Given the description of an element on the screen output the (x, y) to click on. 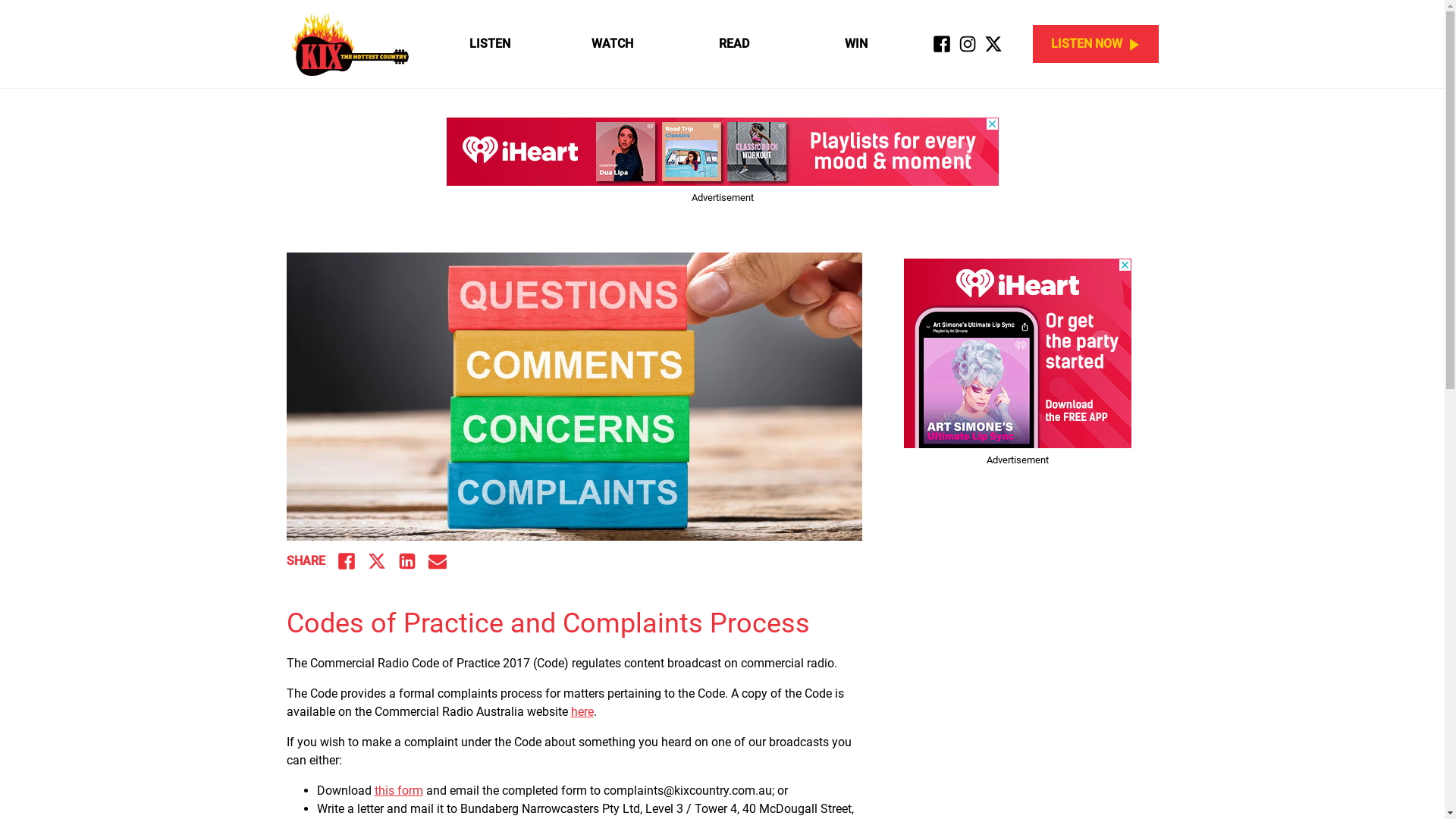
Facebook Element type: text (941, 43)
Twitter Element type: text (376, 561)
3rd party ad content Element type: hover (721, 151)
WATCH Element type: text (611, 43)
LISTEN Element type: text (490, 43)
LinkedIn Element type: text (406, 561)
here Element type: text (581, 711)
Email Element type: text (436, 561)
READ Element type: text (734, 43)
Facebook Element type: text (345, 561)
Twitter/X Element type: text (993, 43)
LISTEN NOW Element type: text (1095, 43)
3rd party ad content Element type: hover (1017, 353)
Instagram Element type: text (967, 43)
WIN Element type: text (855, 43)
this form Element type: text (398, 790)
